Given the description of an element on the screen output the (x, y) to click on. 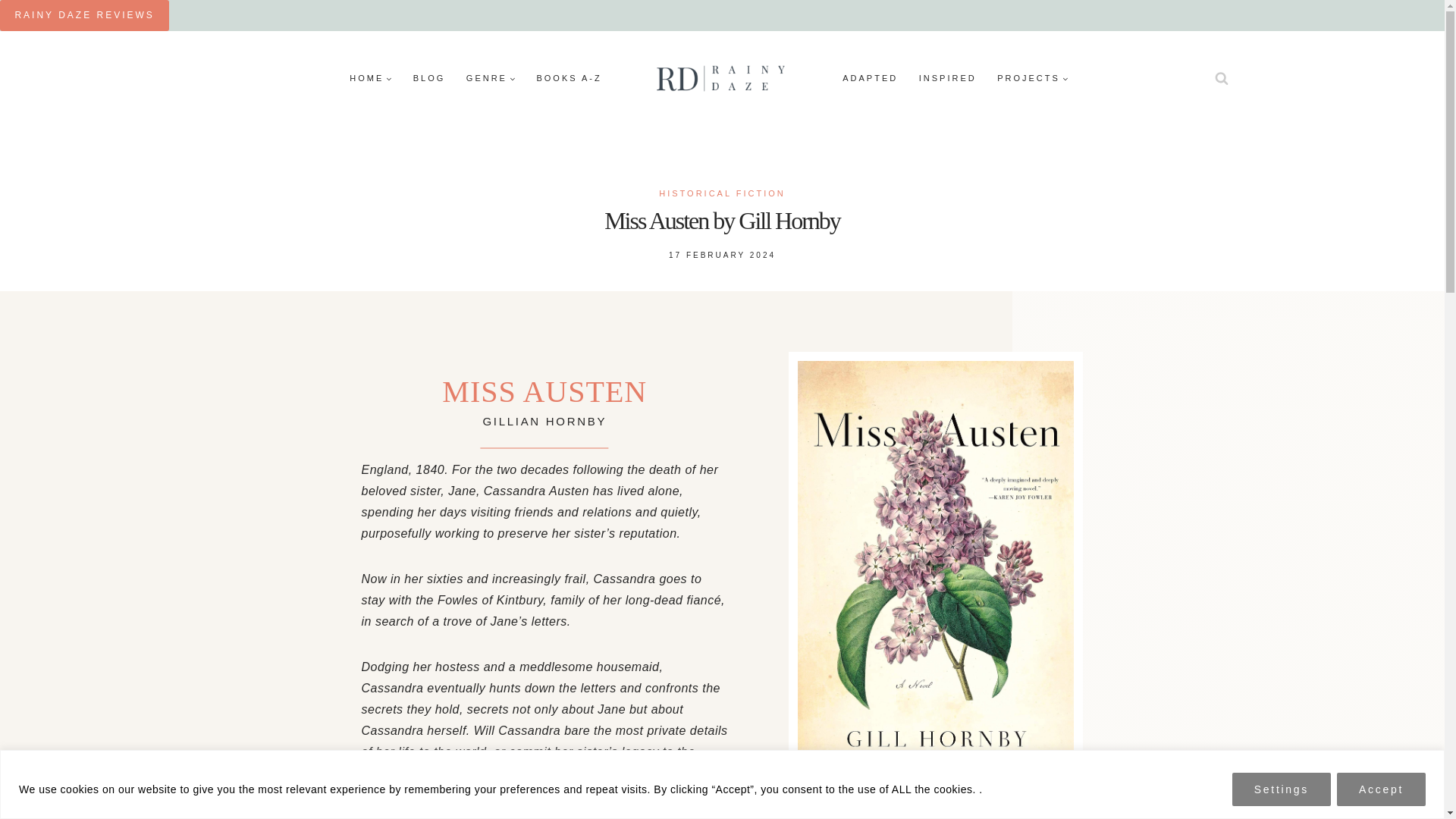
HISTORICAL FICTION (721, 193)
ADAPTED (870, 78)
GENRE (490, 78)
BLOG (429, 78)
PROJECTS (1032, 78)
BOOKS A-Z (568, 78)
RAINY DAZE REVIEWS (84, 15)
Accept (1380, 788)
Settings (1280, 788)
INSPIRED (947, 78)
HOME (371, 78)
